Given the description of an element on the screen output the (x, y) to click on. 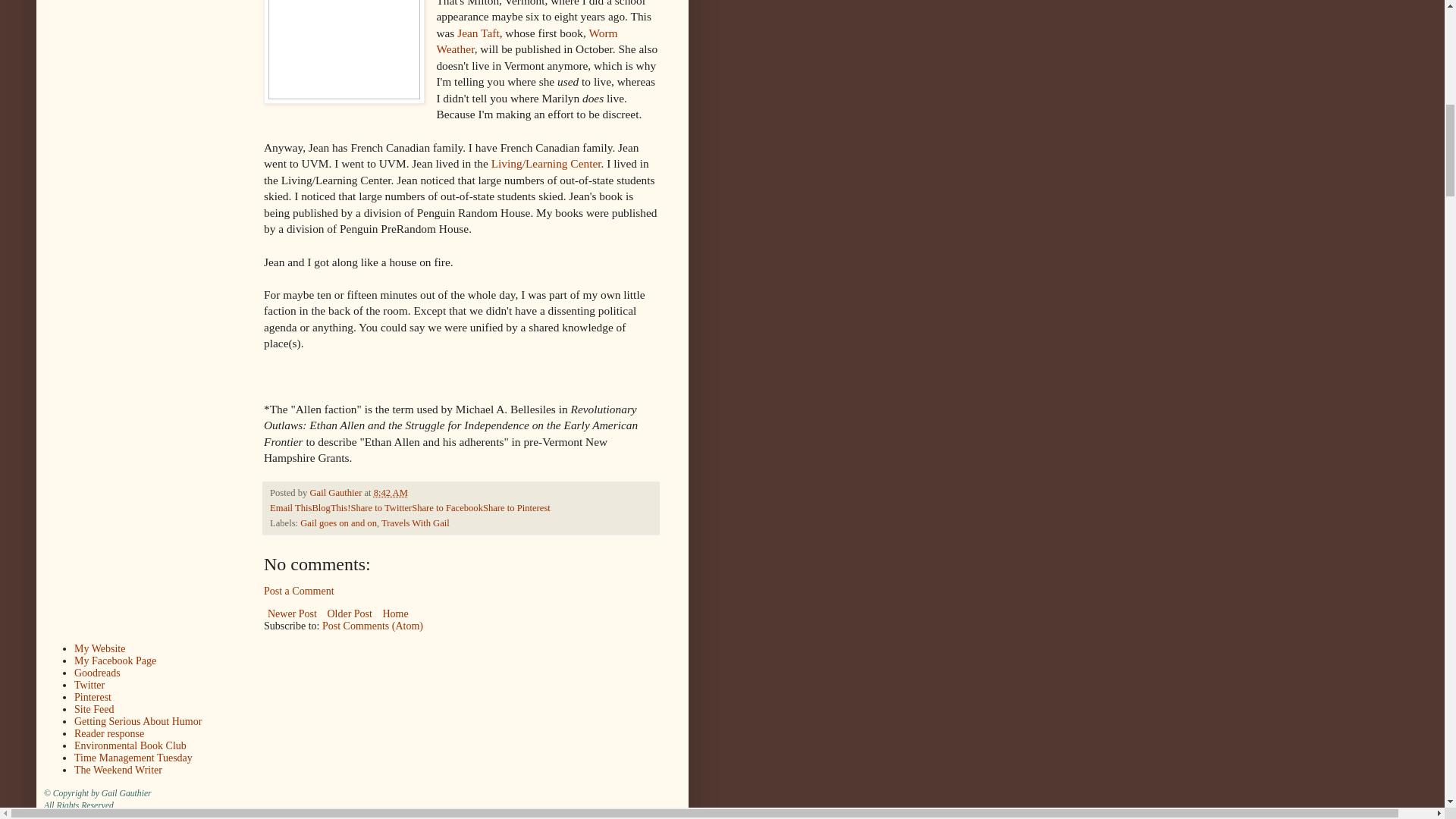
My Facebook Page (114, 660)
Share to Facebook (447, 507)
Getting Serious About Humor (138, 721)
Email This (290, 507)
Gail Gauthier (336, 492)
Gail goes on and on (338, 522)
Newer Post (291, 613)
Share to Pinterest (516, 507)
Share to Pinterest (516, 507)
Site Feed (94, 708)
Time Management Tuesday (133, 757)
author profile (336, 492)
The Weekend Writer (117, 769)
Share to Facebook (447, 507)
Email This (290, 507)
